Given the description of an element on the screen output the (x, y) to click on. 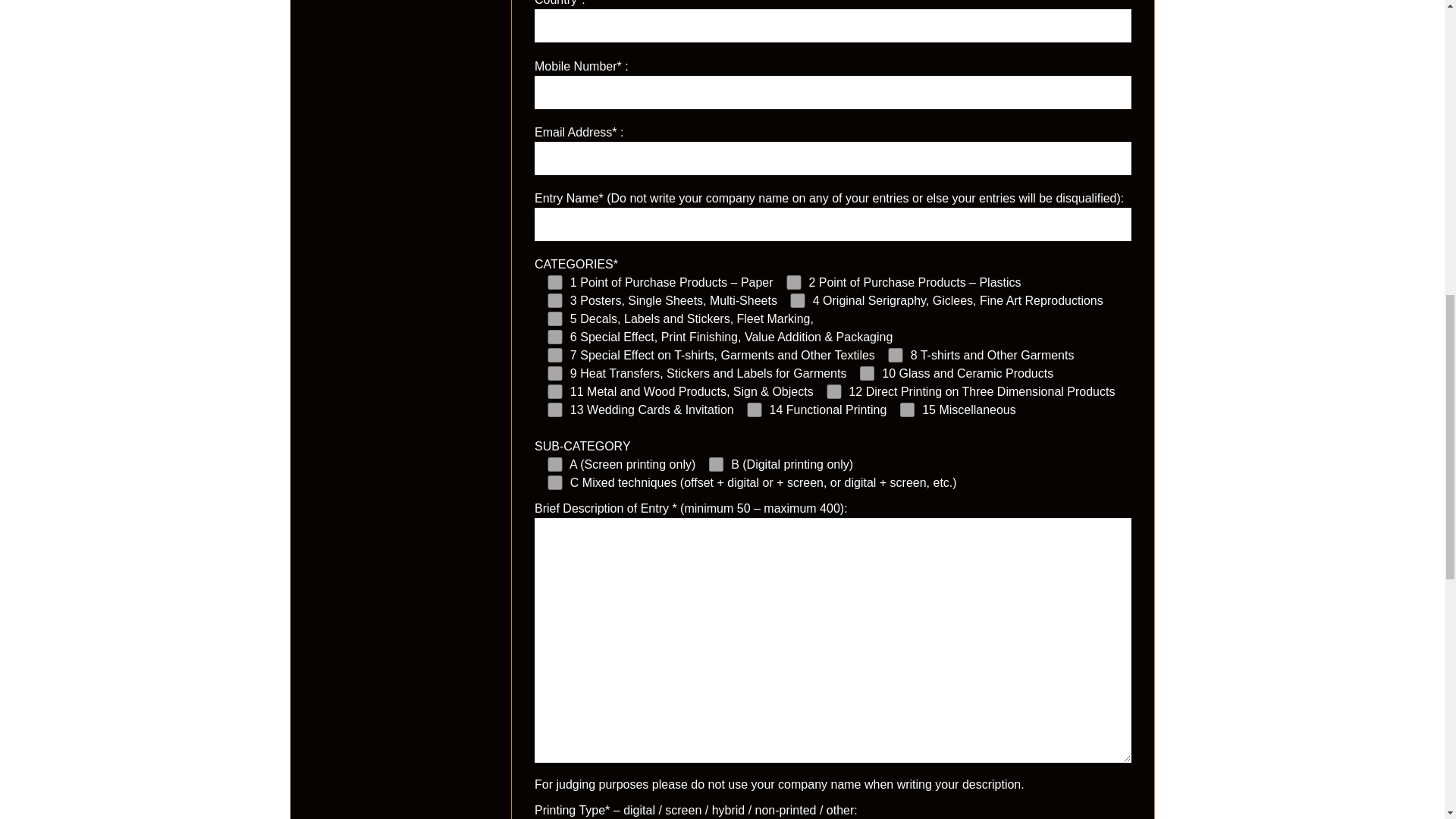
1 Point of Purchase Products - Paper (555, 282)
2 Point of Purchase Products - Plastics (794, 282)
5 Decals, Labels and Stickers, Fleet Marking, (555, 318)
4 Original Serigraphy, Giclees, Fine Art Reproductions (797, 300)
3 Posters, Single Sheets, Multi-Sheets (555, 300)
